Given the description of an element on the screen output the (x, y) to click on. 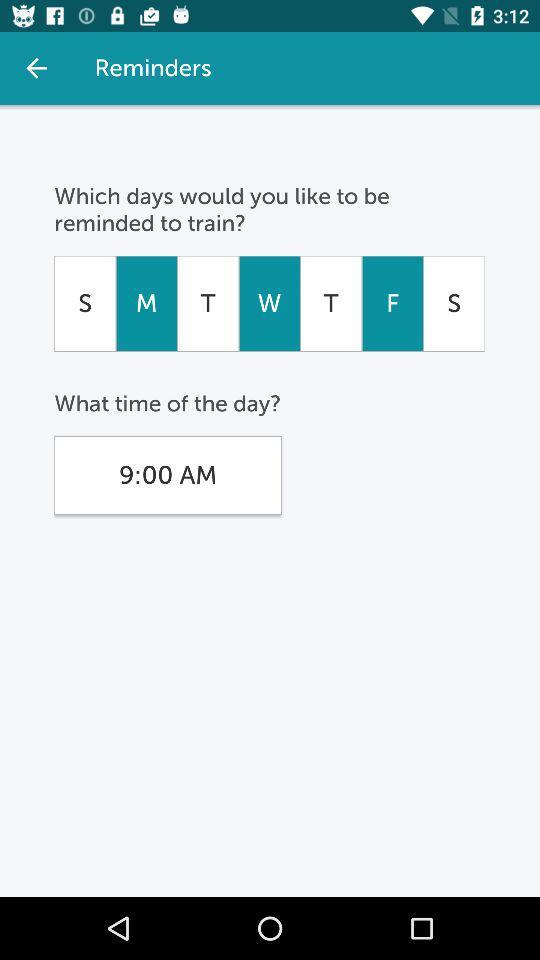
launch the icon to the right of s icon (146, 303)
